Given the description of an element on the screen output the (x, y) to click on. 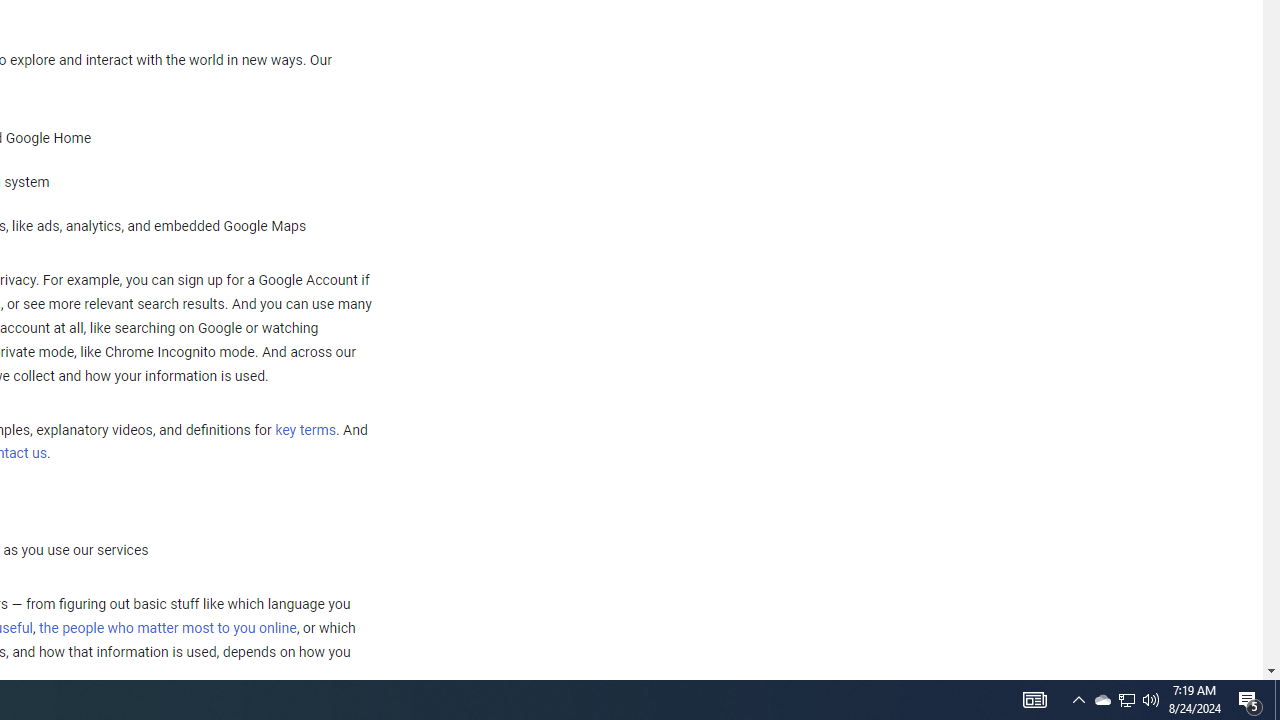
the people who matter most to you online (167, 628)
key terms (305, 430)
